Given the description of an element on the screen output the (x, y) to click on. 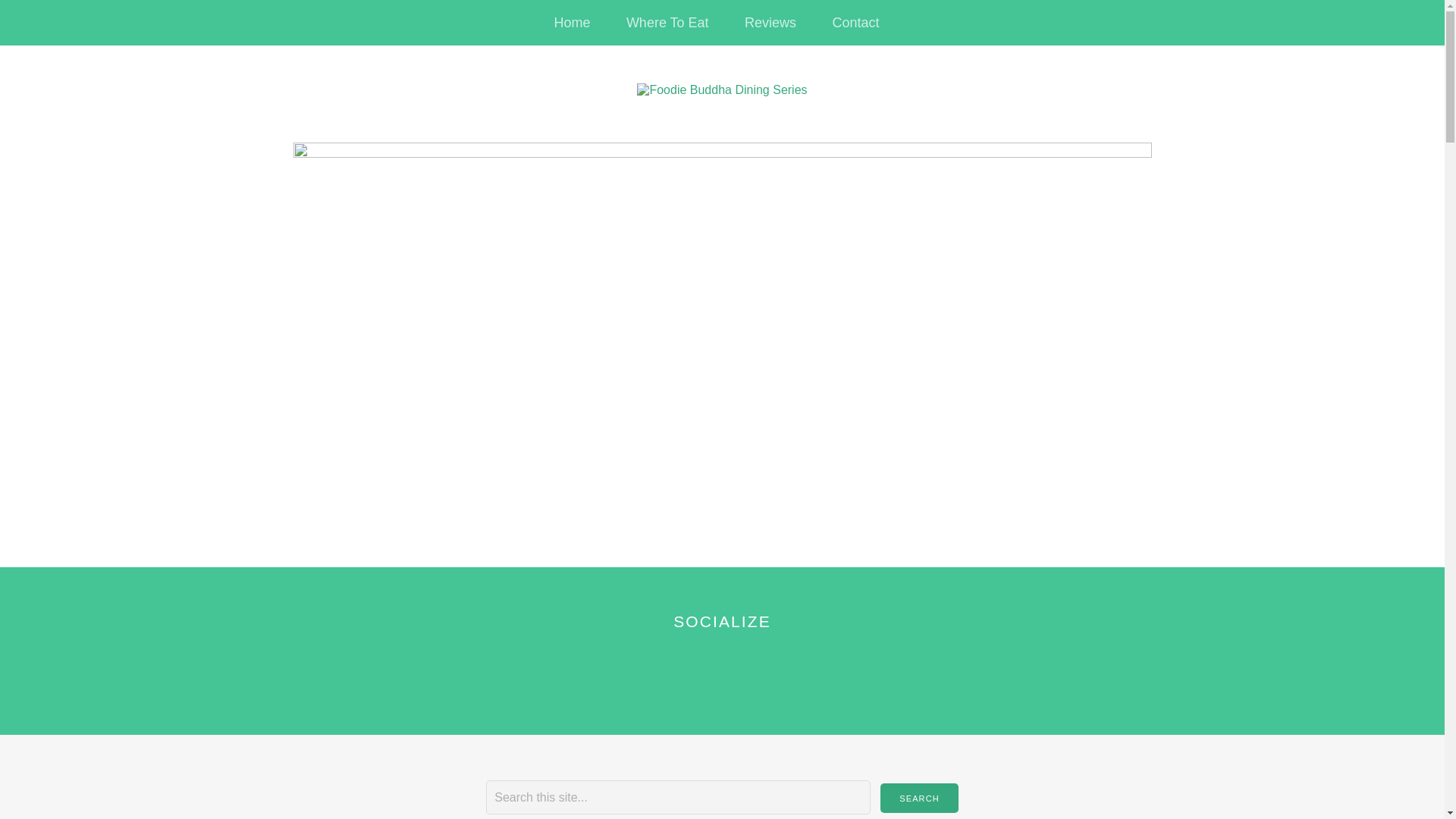
Foodie Buddha Dining Series (721, 90)
Facebook (719, 669)
Contact (855, 22)
Reviews (769, 22)
Where To Eat (667, 22)
Instagram (757, 669)
Search (919, 797)
Search (919, 797)
Twitter (681, 669)
Home (571, 22)
Instagram (757, 669)
Twitter (681, 669)
Facebook (719, 669)
